Given the description of an element on the screen output the (x, y) to click on. 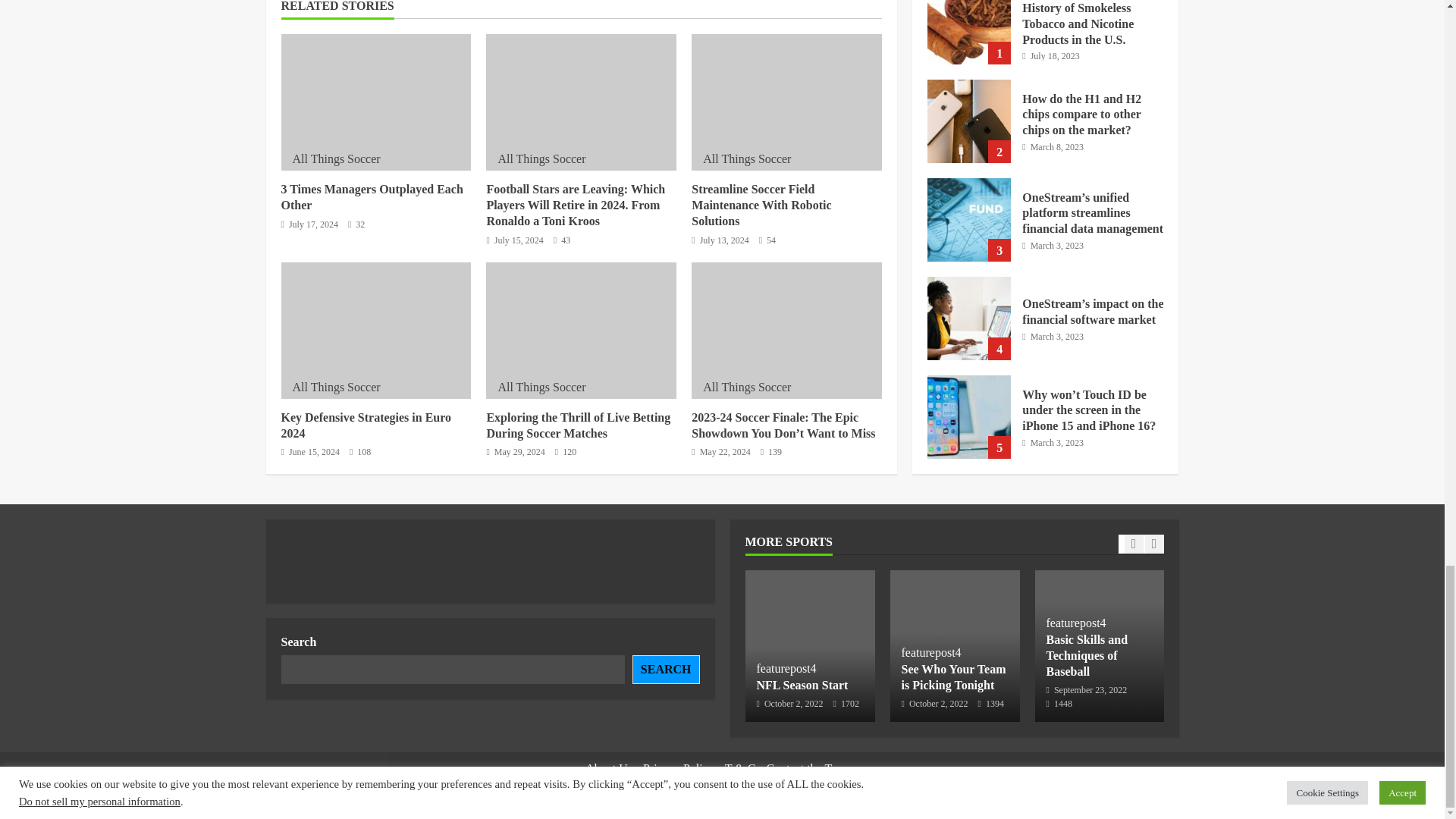
3 Times Managers Outplayed Each Other (372, 196)
All Things Soccer (336, 158)
32 (356, 224)
3 Times Managers Outplayed Each Other (375, 102)
